Given the description of an element on the screen output the (x, y) to click on. 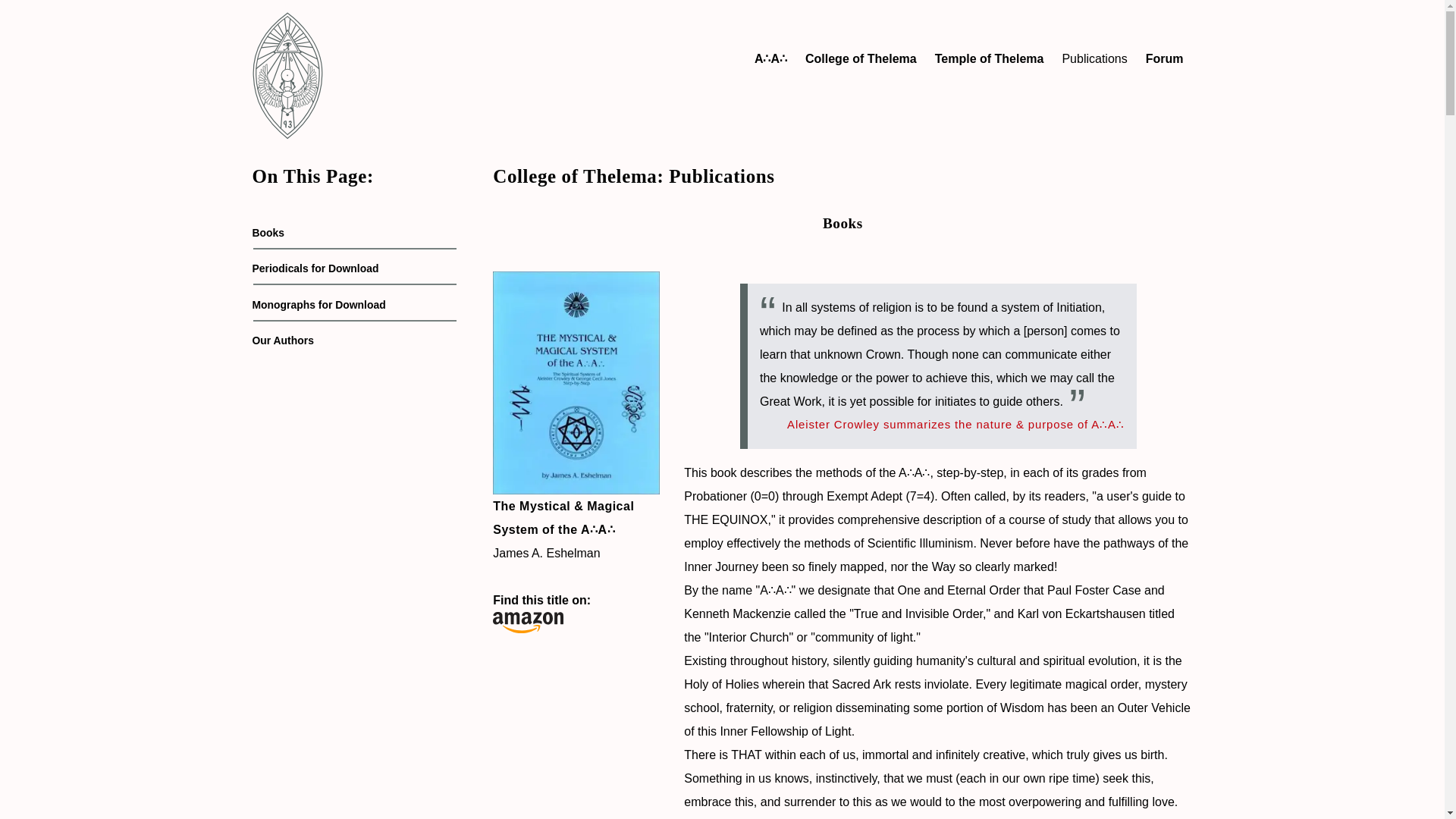
Books (267, 232)
Monographs for Download (318, 304)
College of Thelema (861, 58)
Temple of Thelema (989, 58)
Forum (1164, 58)
Find this title on: (576, 613)
Our Authors (282, 340)
Periodicals for Download (314, 268)
